Given the description of an element on the screen output the (x, y) to click on. 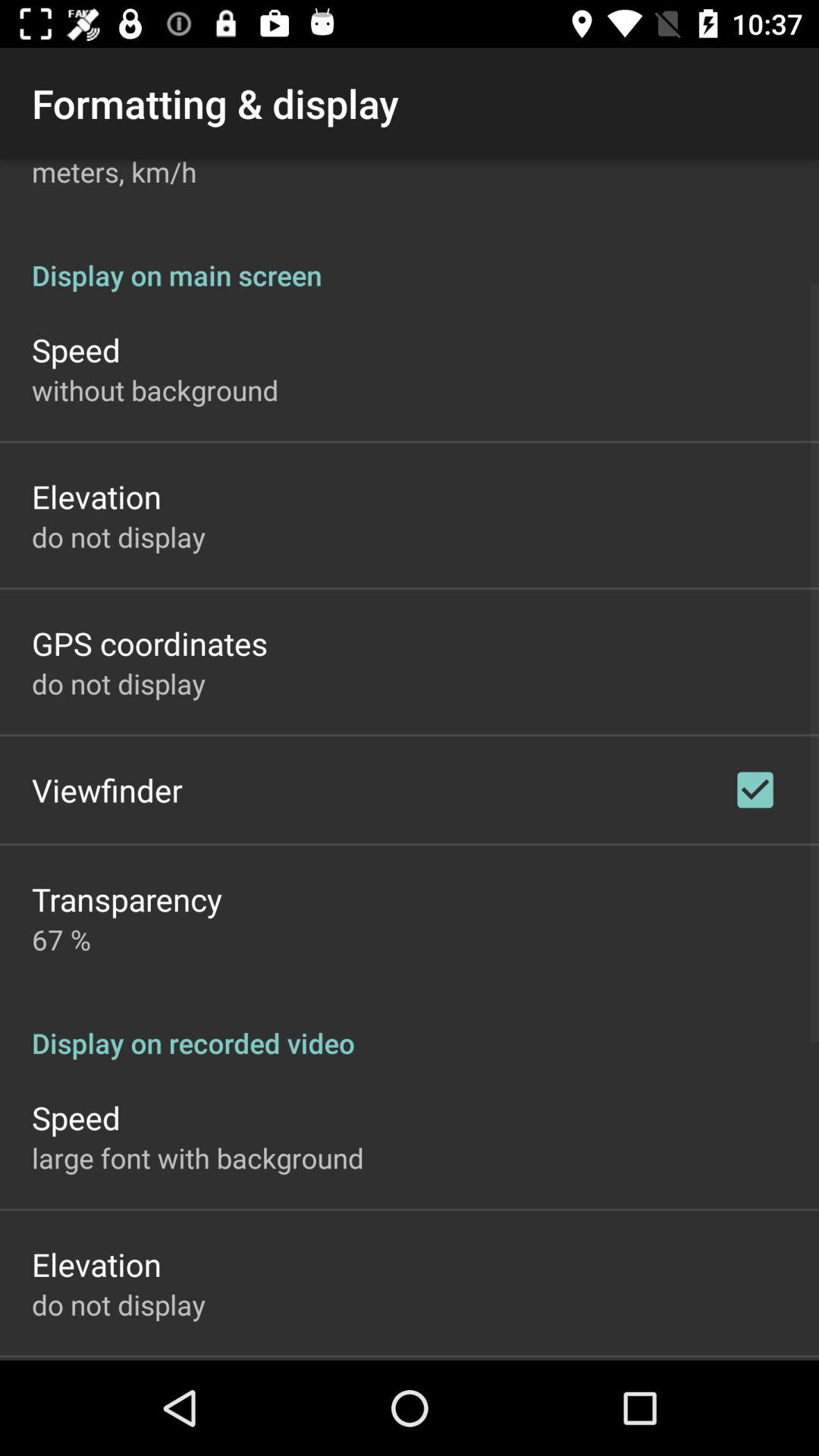
select the transparency icon (126, 898)
